Given the description of an element on the screen output the (x, y) to click on. 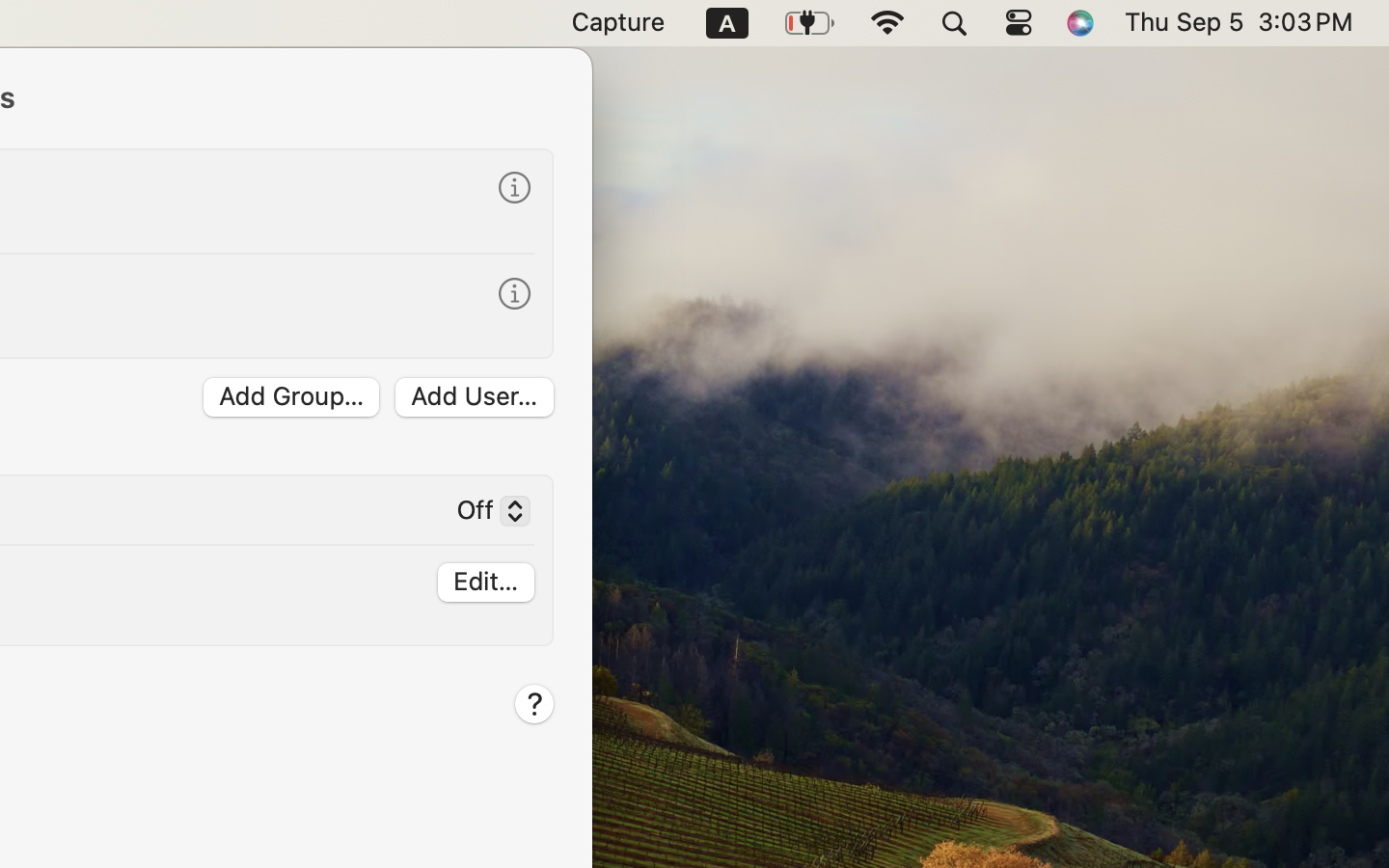
Off Element type: AXPopUpButton (485, 513)
